Given the description of an element on the screen output the (x, y) to click on. 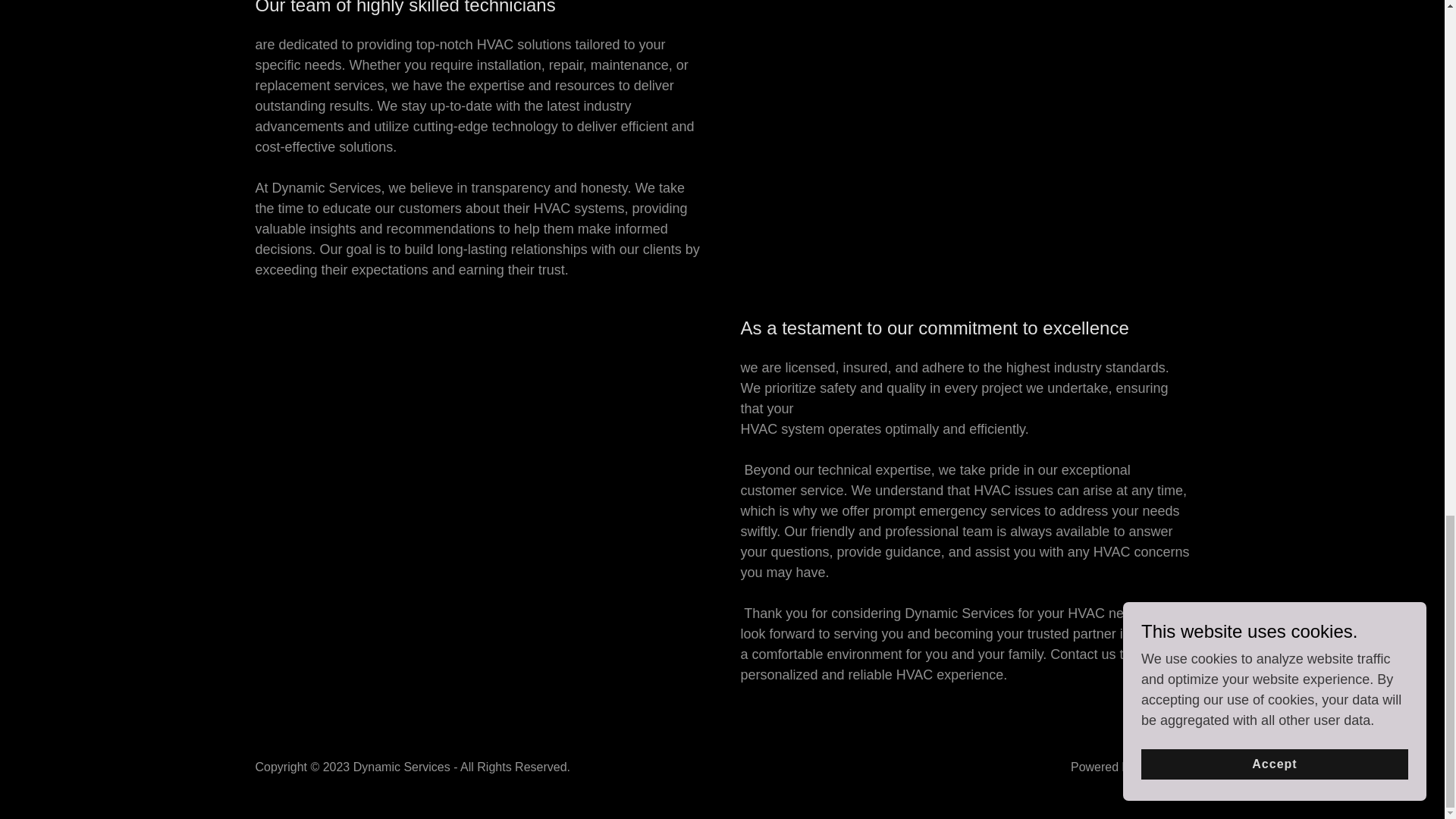
GoDaddy (1163, 766)
